Given the description of an element on the screen output the (x, y) to click on. 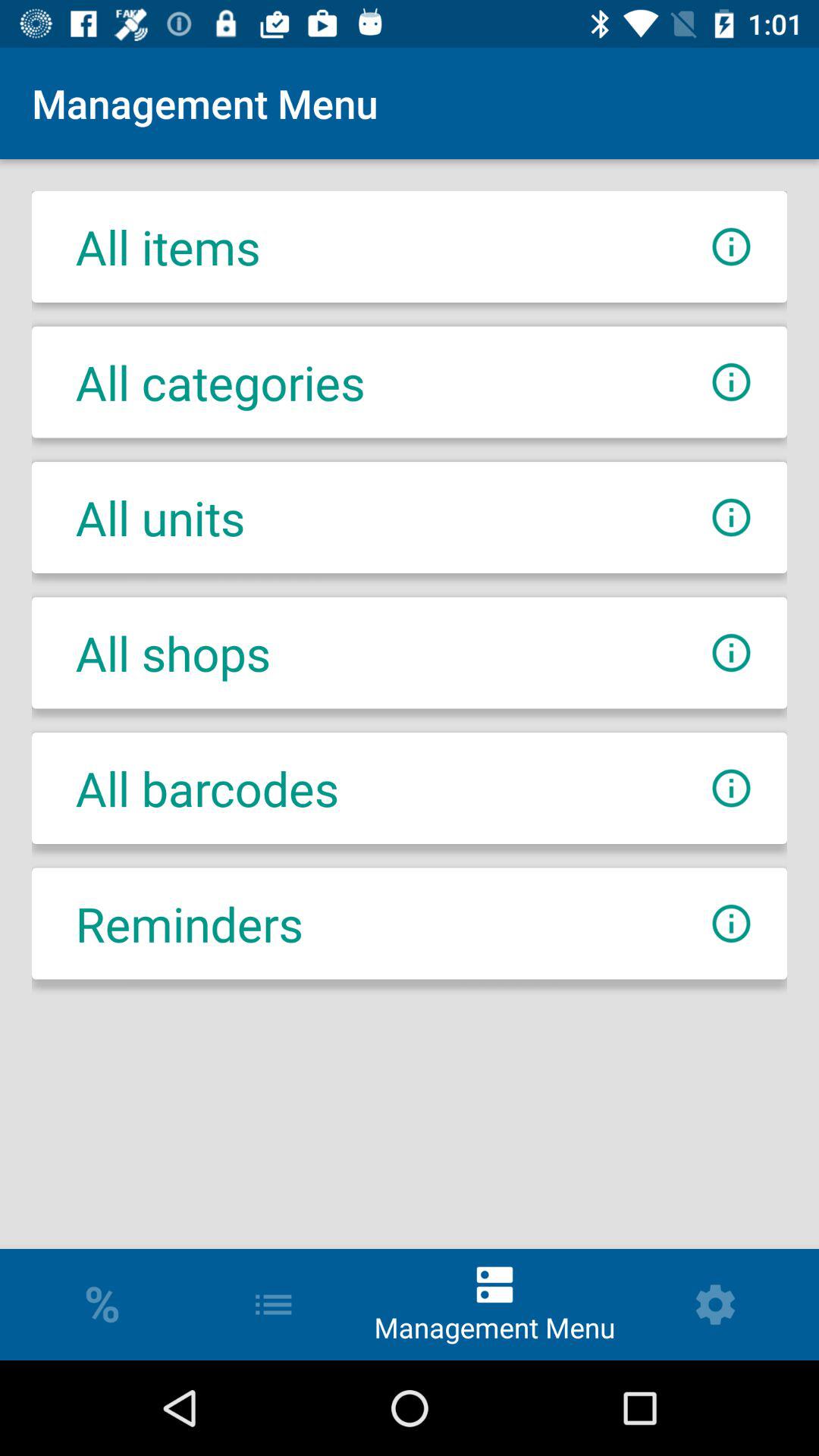
more info (731, 517)
